Given the description of an element on the screen output the (x, y) to click on. 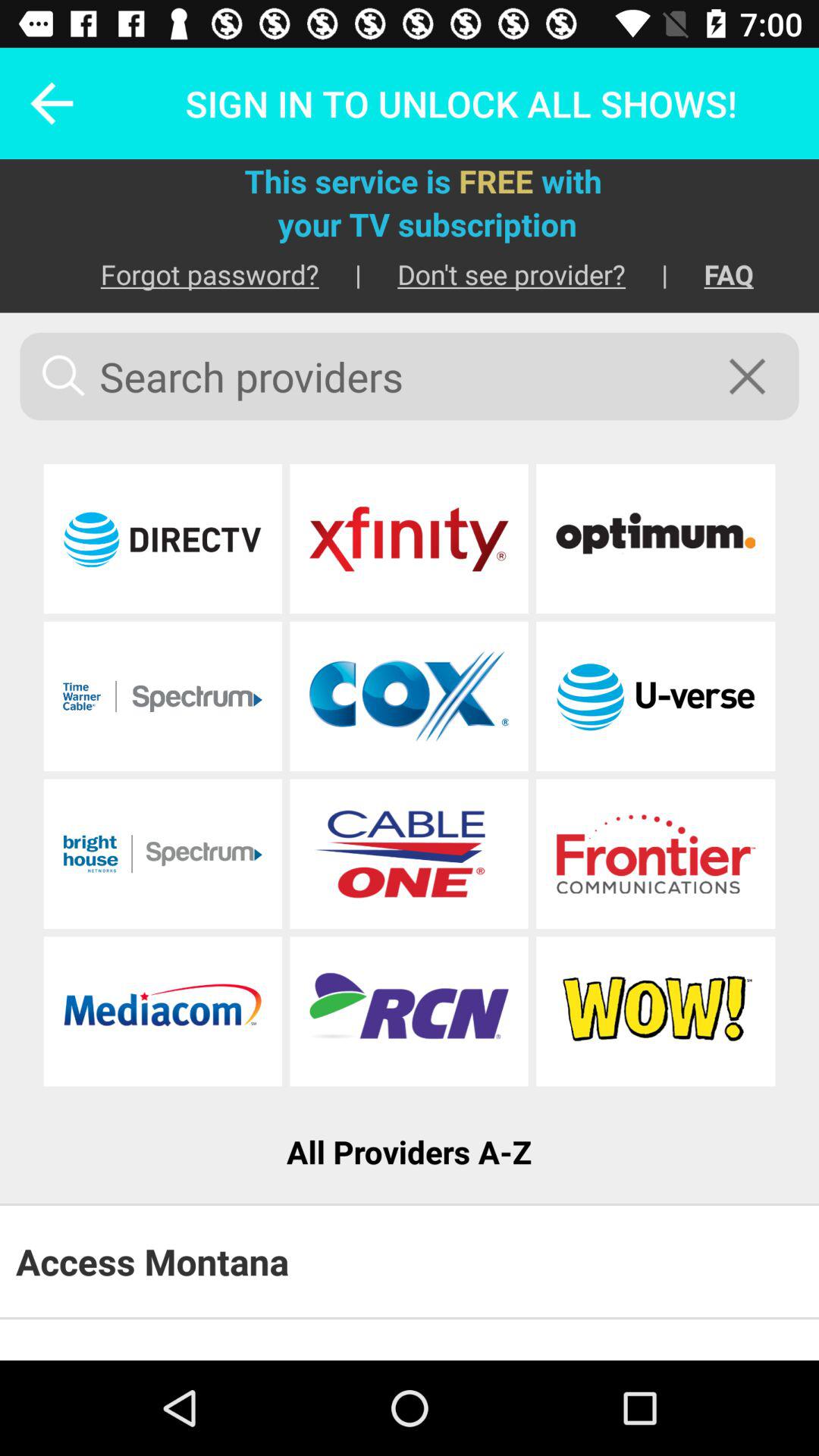
jump to forgot password? (191, 273)
